Given the description of an element on the screen output the (x, y) to click on. 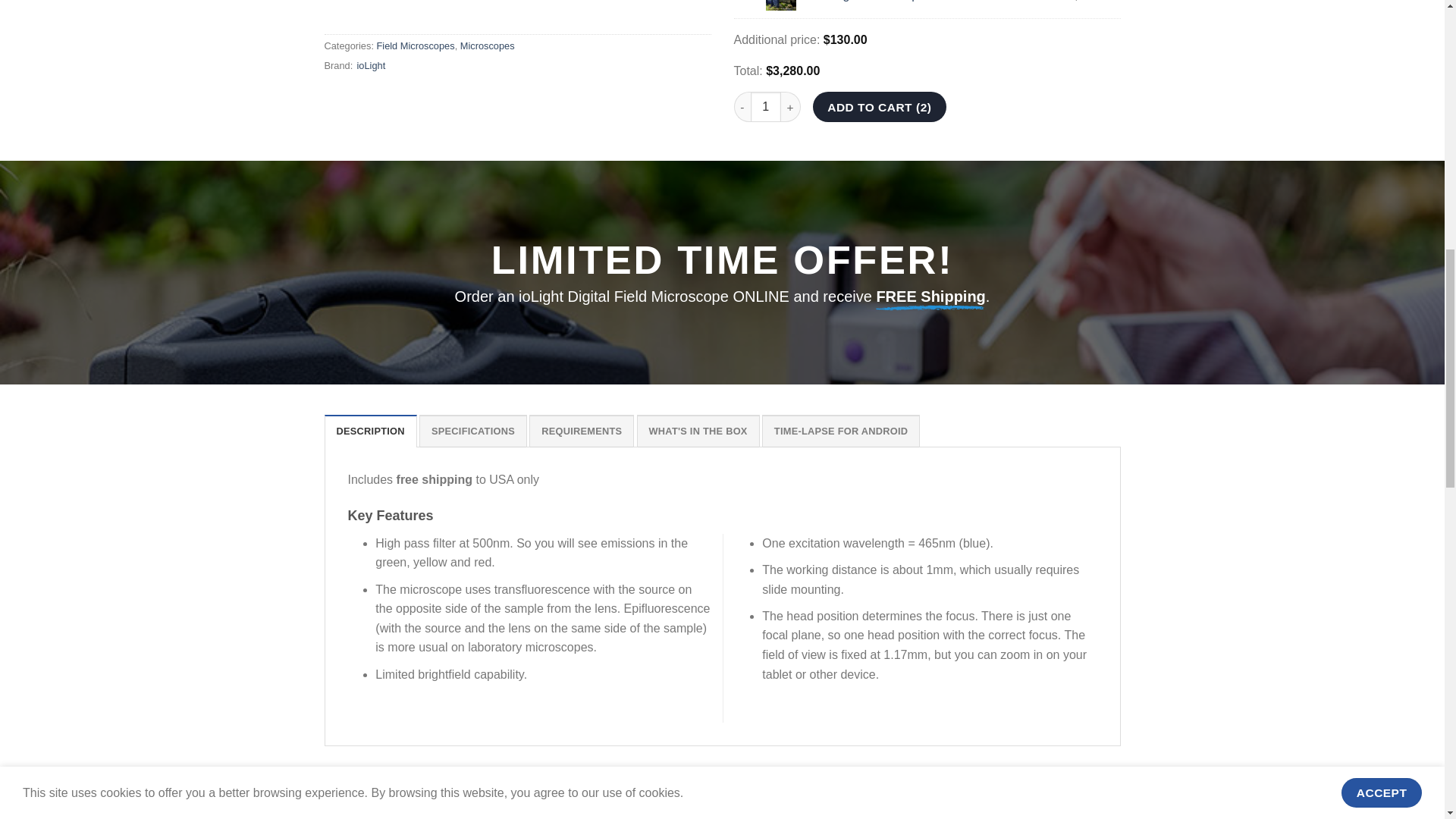
- (742, 106)
1 (765, 106)
